Given the description of an element on the screen output the (x, y) to click on. 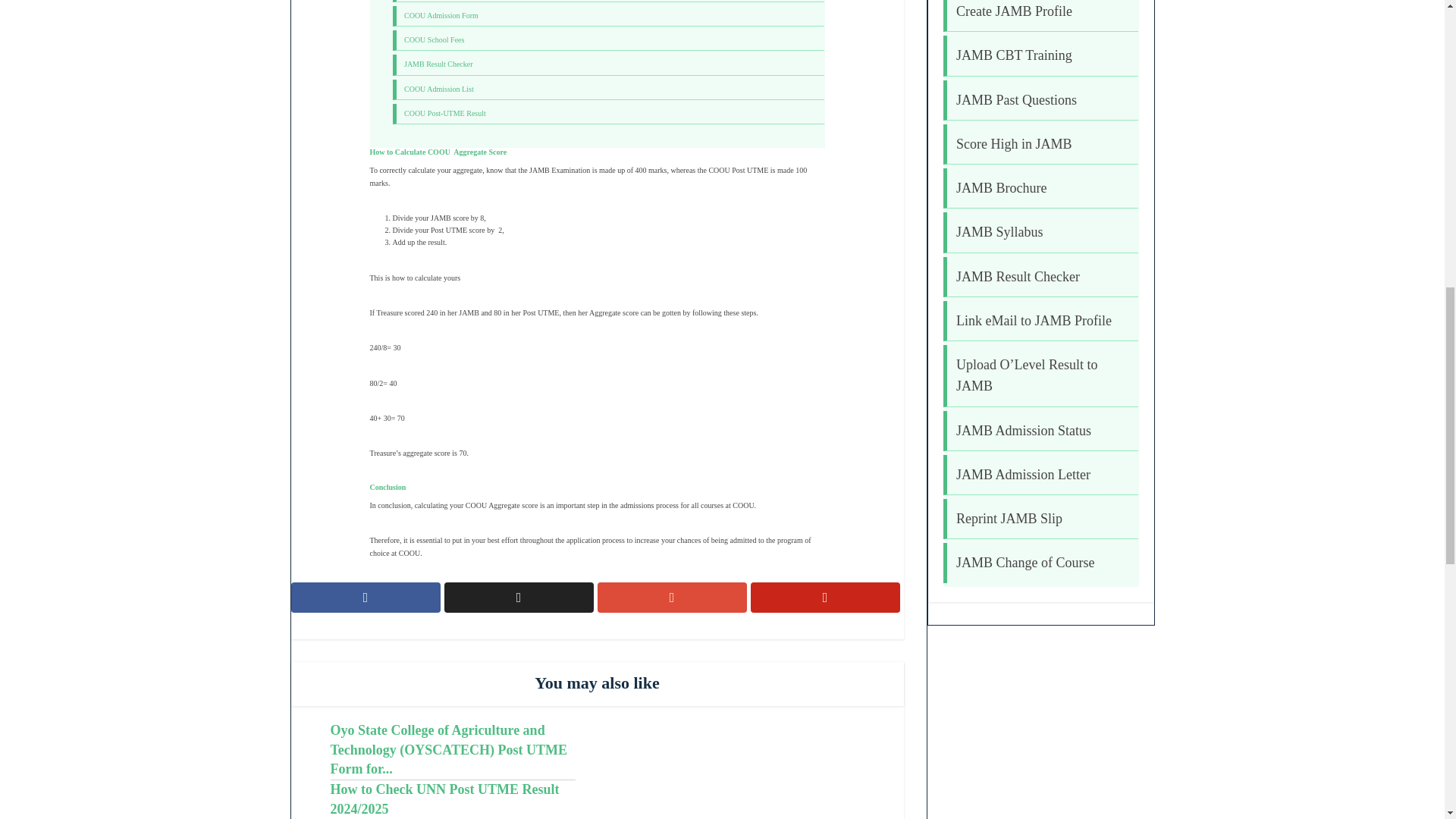
JAMB Result Checker (438, 63)
COOU Admission Form (441, 15)
COOU Admission List (439, 89)
COOU School Fees (434, 40)
COOU Post-UTME Result (445, 112)
